Given the description of an element on the screen output the (x, y) to click on. 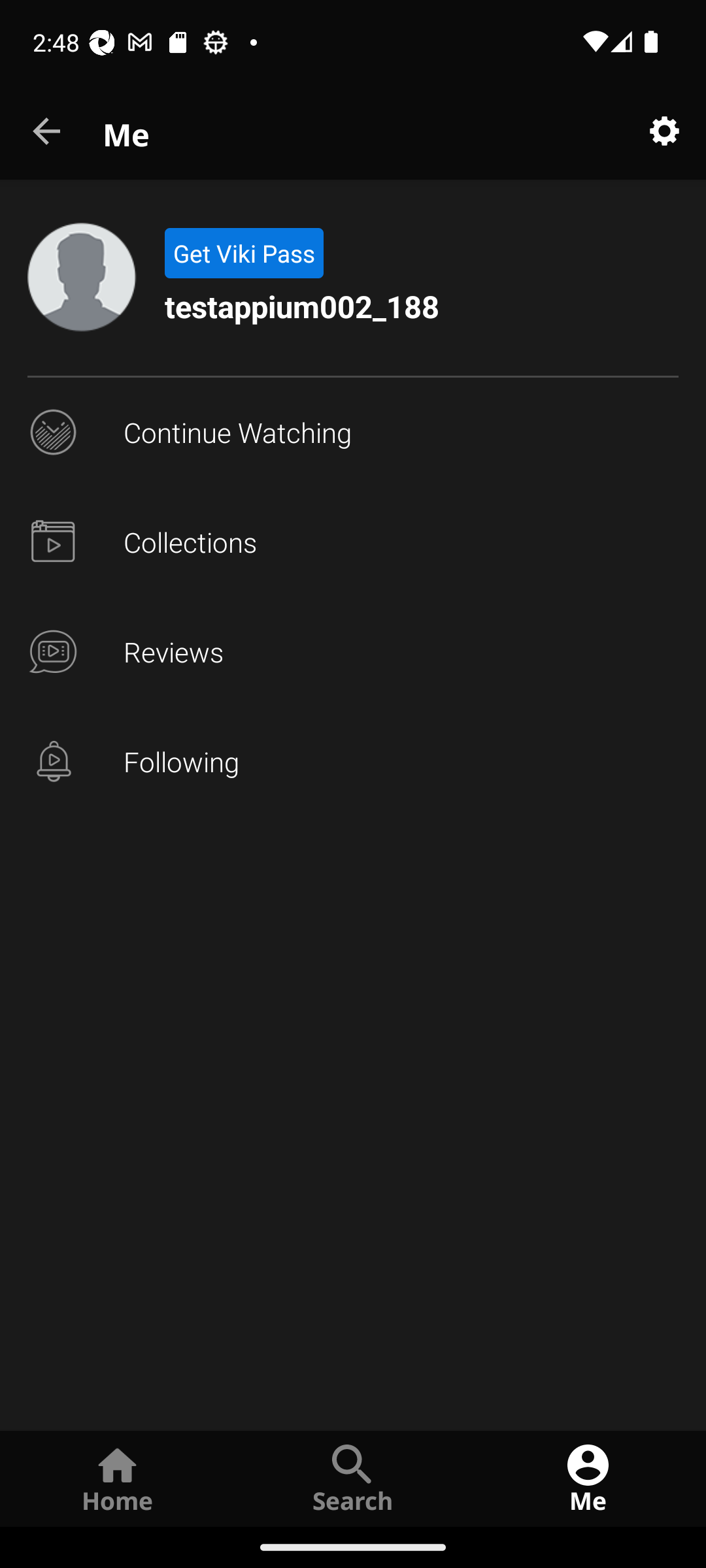
Navigate up (48, 131)
Settings (664, 131)
Get Viki Pass (243, 253)
Continue Watching (353, 432)
profile_page_user_collections Collections (353, 542)
Reviews (353, 652)
Following (353, 761)
Home (117, 1478)
Search (352, 1478)
